Given the description of an element on the screen output the (x, y) to click on. 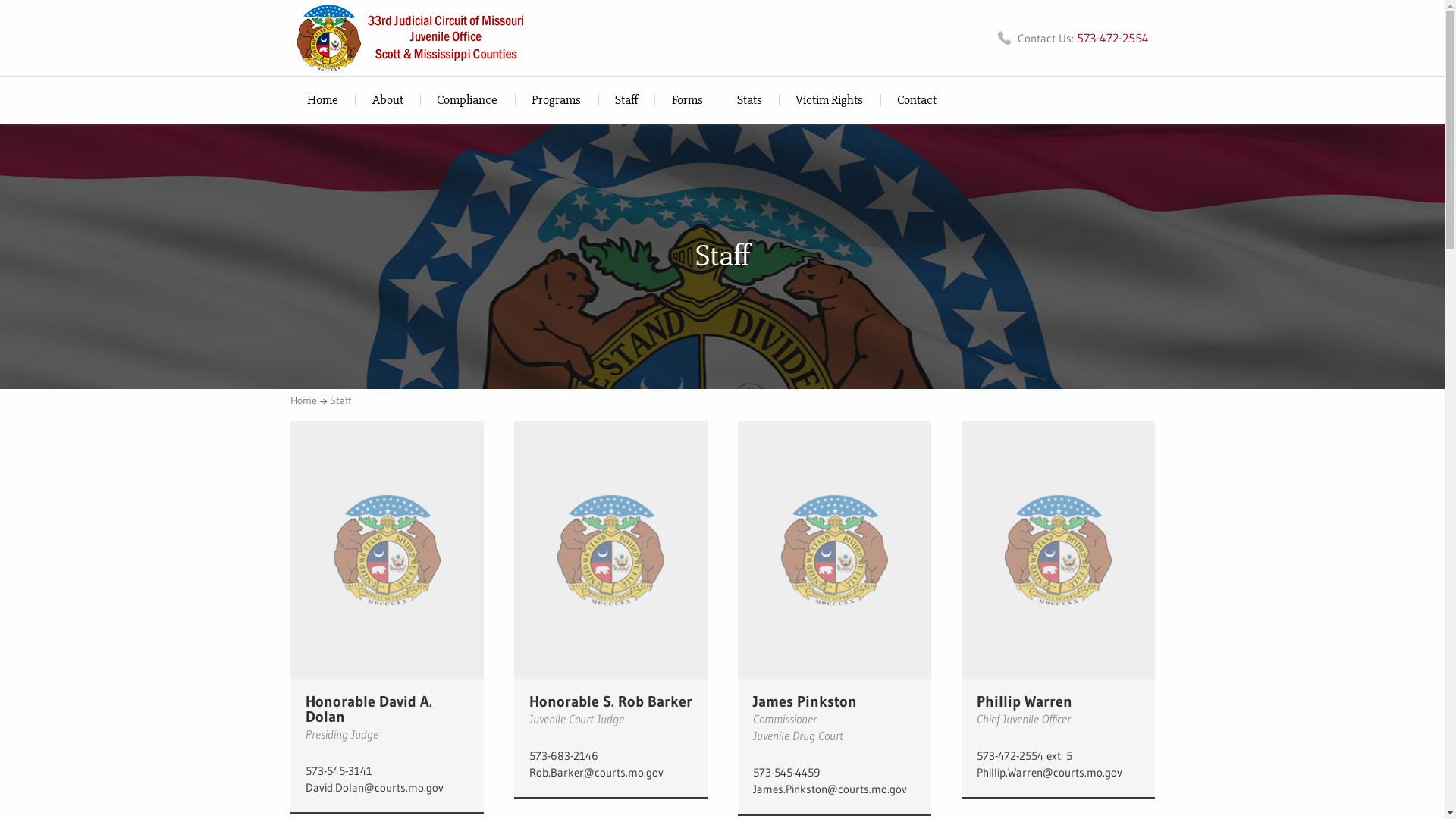
573-472-2554 ext. 5 Element type: text (1057, 756)
Stats Element type: text (748, 99)
About Element type: text (387, 99)
573-683-2146 Element type: text (610, 756)
Home Element type: text (321, 99)
James.Pinkston@courts.mo.gov Element type: text (833, 789)
573-545-3141 Element type: text (385, 771)
573-545-4459 Element type: text (833, 772)
Staff Element type: text (626, 99)
Victim Rights Element type: text (829, 99)
Staff Element type: text (339, 400)
Rob.Barker@courts.mo.gov Element type: text (610, 772)
Home Element type: text (307, 400)
David.Dolan@courts.mo.gov Element type: text (385, 788)
Forms Element type: text (686, 99)
573-472-2554 Element type: text (1112, 37)
Compliance Element type: text (467, 99)
Contact Element type: text (916, 99)
Phillip.Warren@courts.mo.gov Element type: text (1057, 772)
Programs Element type: text (556, 99)
